Given the description of an element on the screen output the (x, y) to click on. 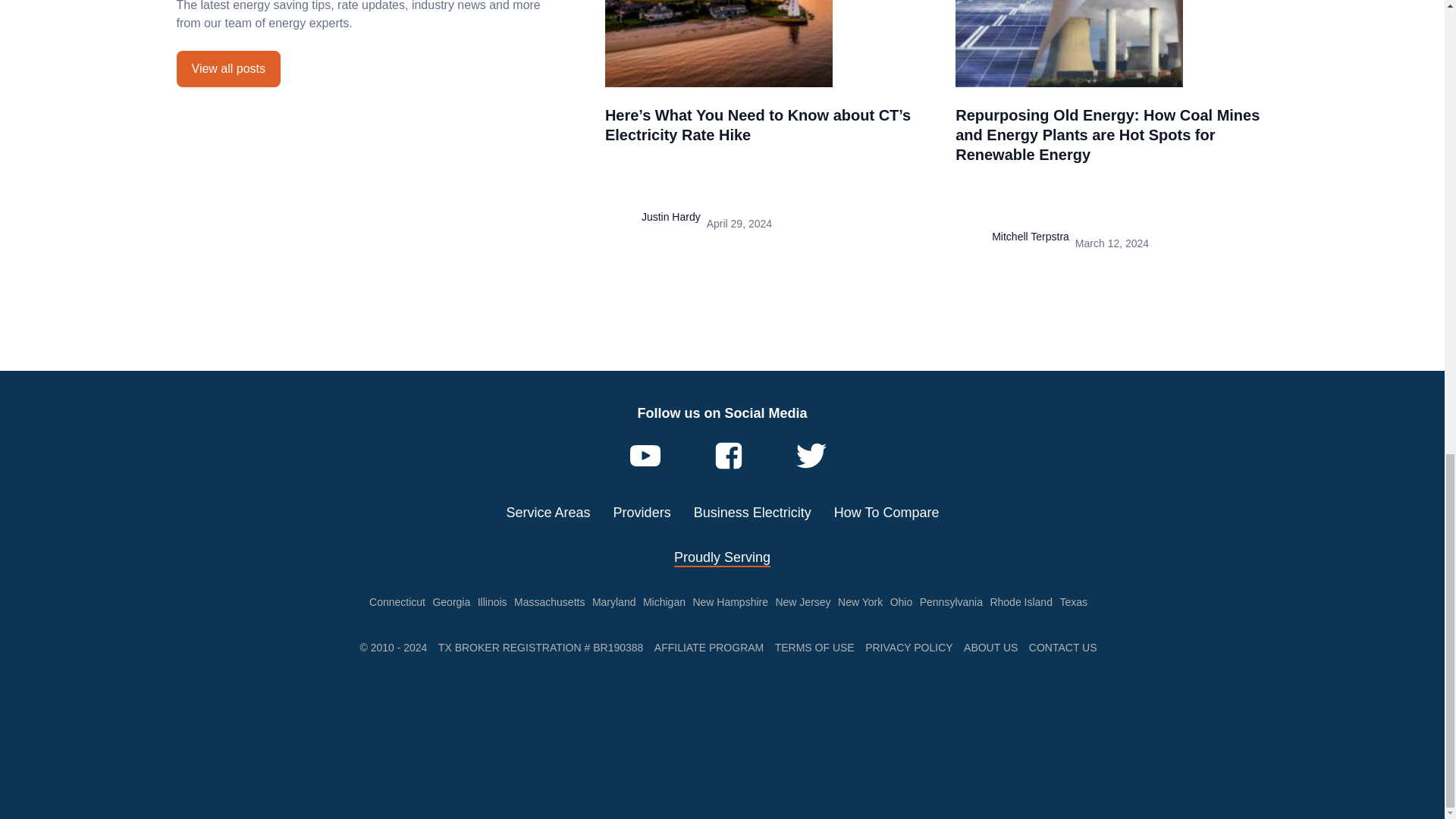
Twitter (811, 455)
YouTube (645, 455)
Facebook (727, 455)
